Given the description of an element on the screen output the (x, y) to click on. 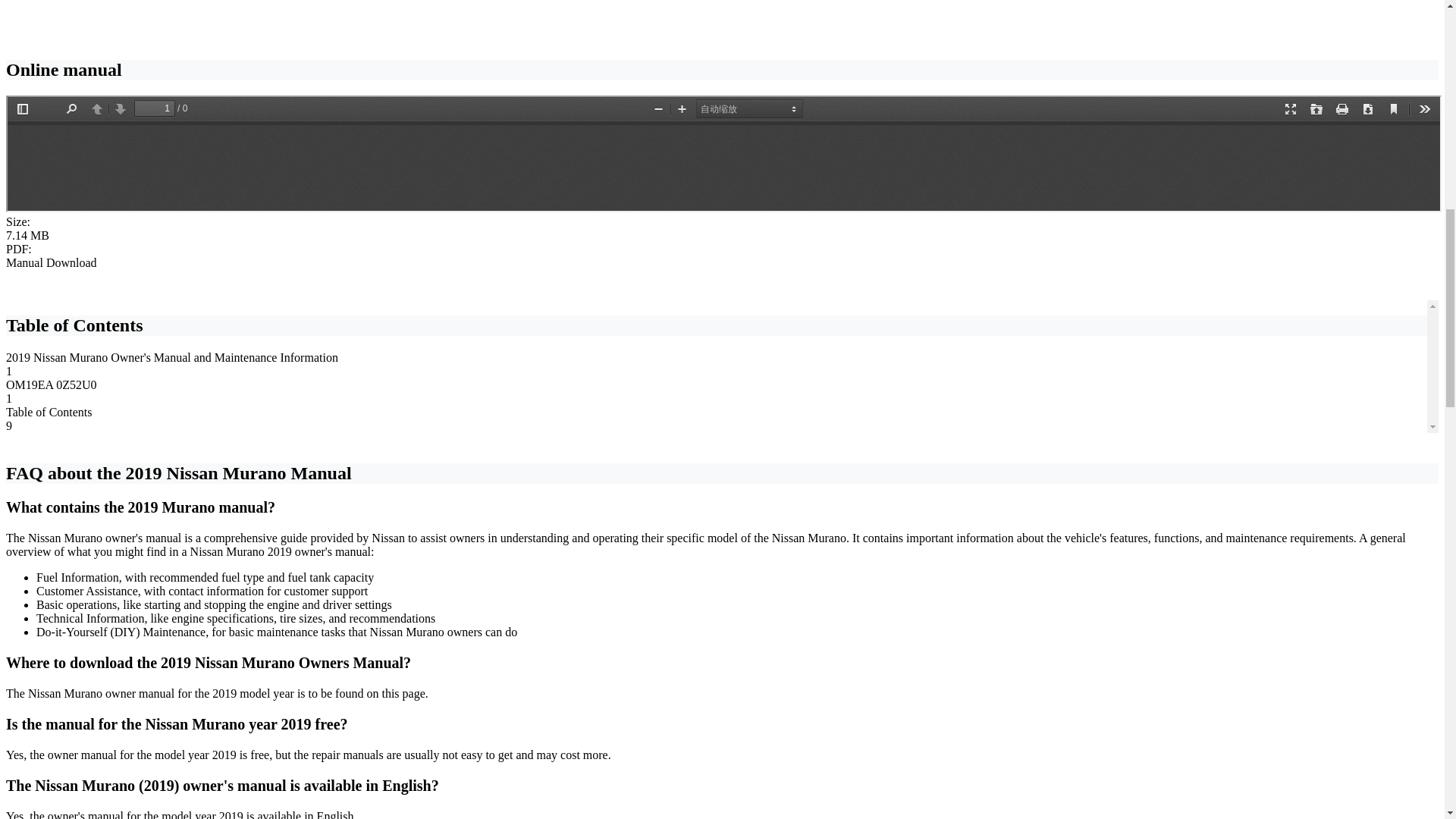
Advertisement (721, 22)
Manual Download (51, 262)
